Given the description of an element on the screen output the (x, y) to click on. 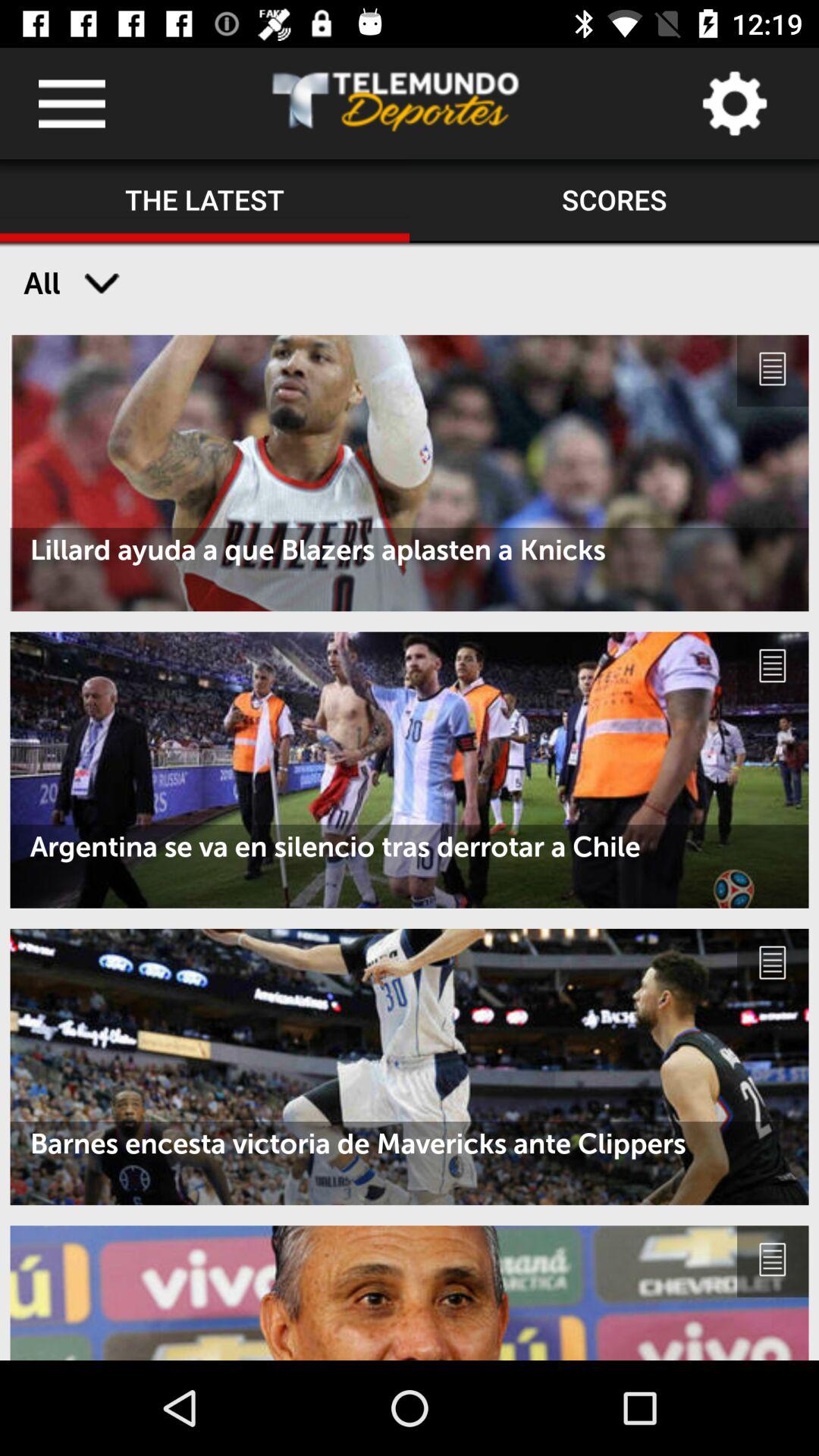
settings (734, 103)
